Given the description of an element on the screen output the (x, y) to click on. 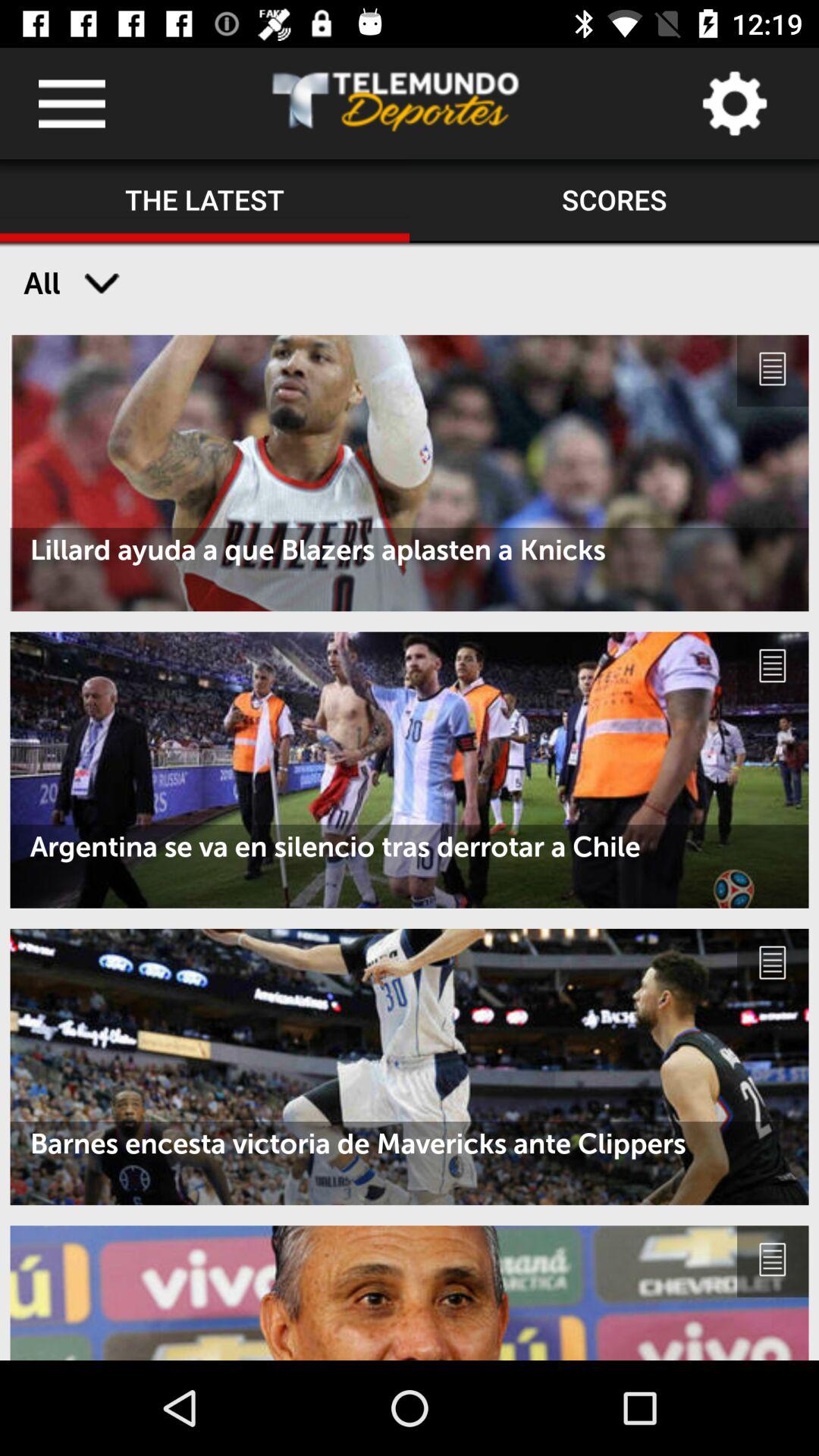
settings (734, 103)
